Given the description of an element on the screen output the (x, y) to click on. 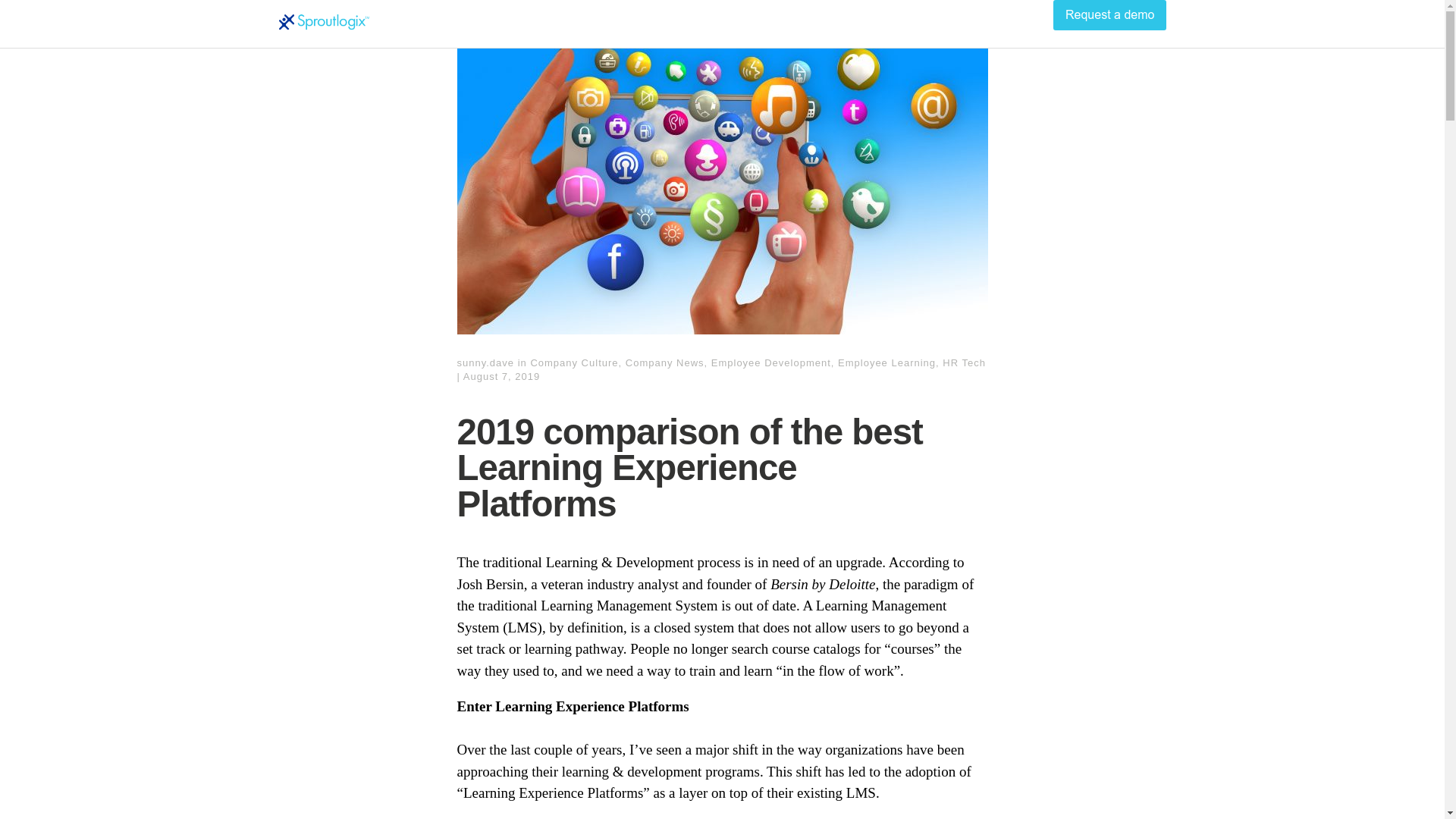
Company Culture (573, 361)
View all posts by sunny.dave (485, 361)
Employee Learning (887, 361)
Company News (665, 361)
Employee Development (771, 361)
2019 comparison of the best Learning Experience Platforms (501, 376)
August 7, 2019 (501, 376)
sunny.dave (485, 361)
HR Tech (963, 361)
Search (29, 13)
